Given the description of an element on the screen output the (x, y) to click on. 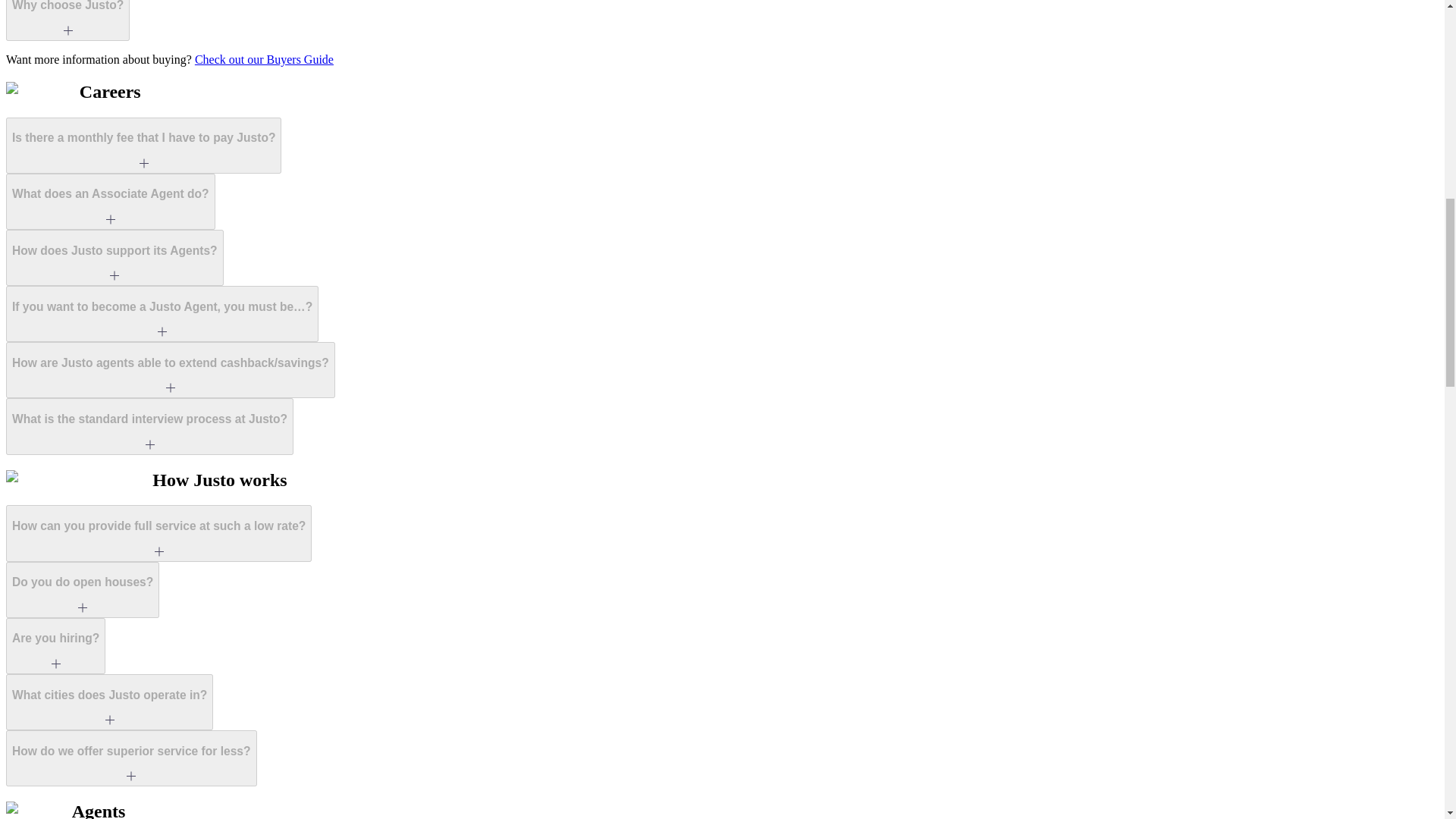
How do we offer superior service for less? (131, 758)
How does Justo support its Agents? (114, 257)
Are you hiring? (54, 646)
Is there a monthly fee that I have to pay Justo? (143, 145)
How can you provide full service at such a low rate? (158, 533)
What does an Associate Agent do? (110, 201)
Check out our Buyers Guide (264, 59)
Do you do open houses? (81, 589)
What is the standard interview process at Justo? (149, 426)
What cities does Justo operate in? (108, 702)
Why choose Justo? (67, 20)
